Given the description of an element on the screen output the (x, y) to click on. 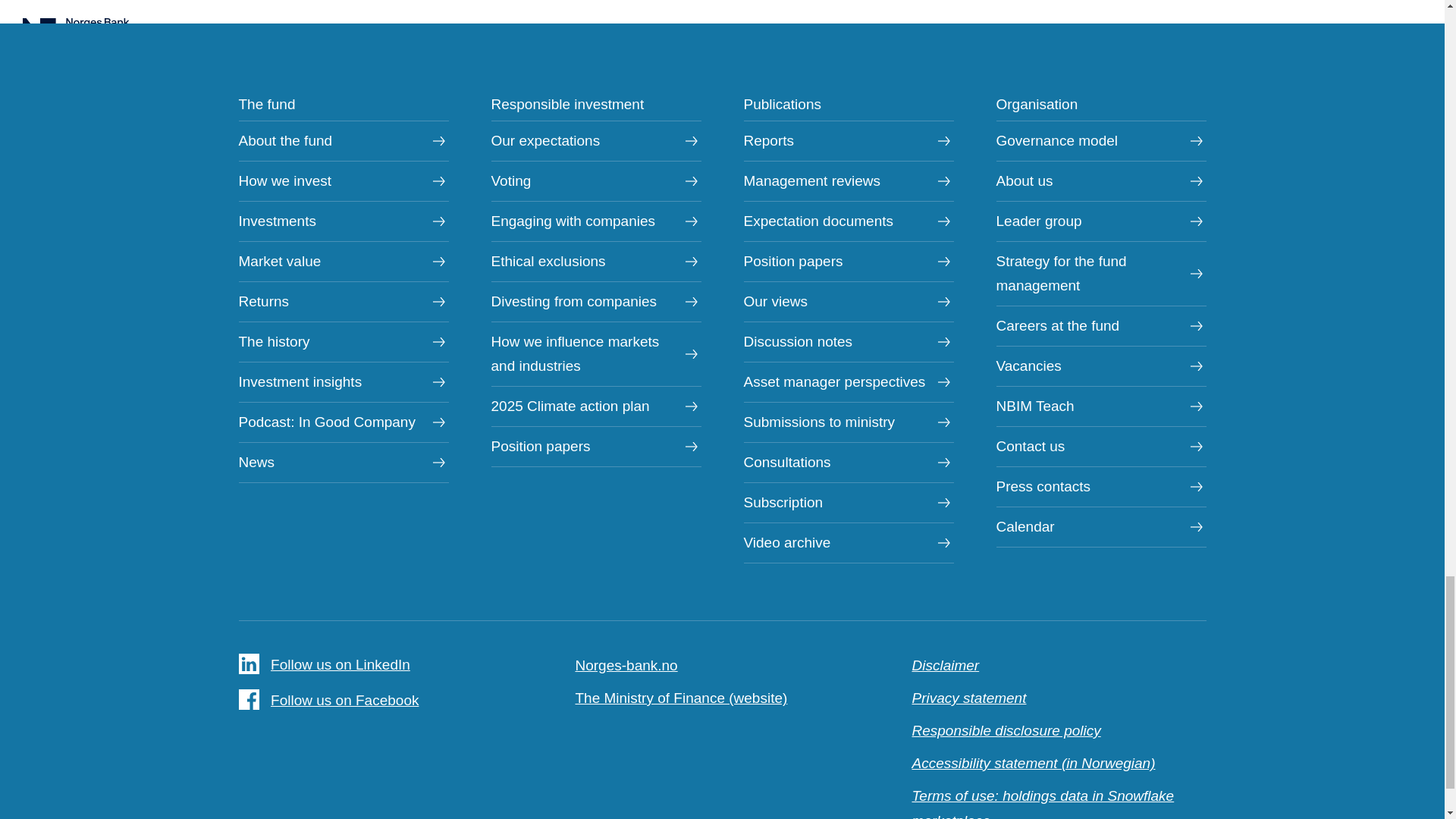
Our expectations (596, 140)
About the fund (343, 140)
Market value (343, 261)
Divesting from companies (596, 301)
Position papers (596, 446)
Voting (596, 180)
Investments (343, 220)
Engaging with companies (596, 220)
Podcast: In Good Company (343, 422)
The fund (266, 104)
